Given the description of an element on the screen output the (x, y) to click on. 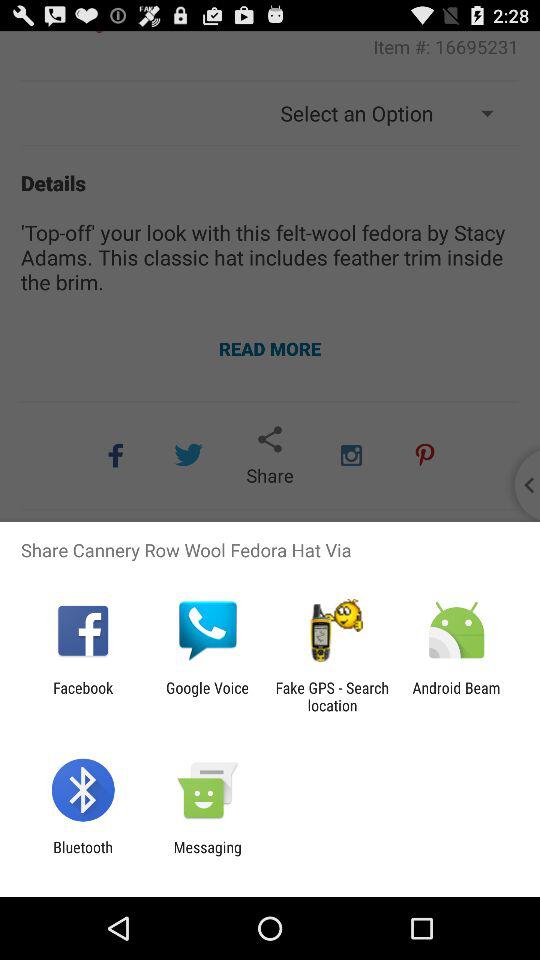
open the app next to google voice (332, 696)
